Given the description of an element on the screen output the (x, y) to click on. 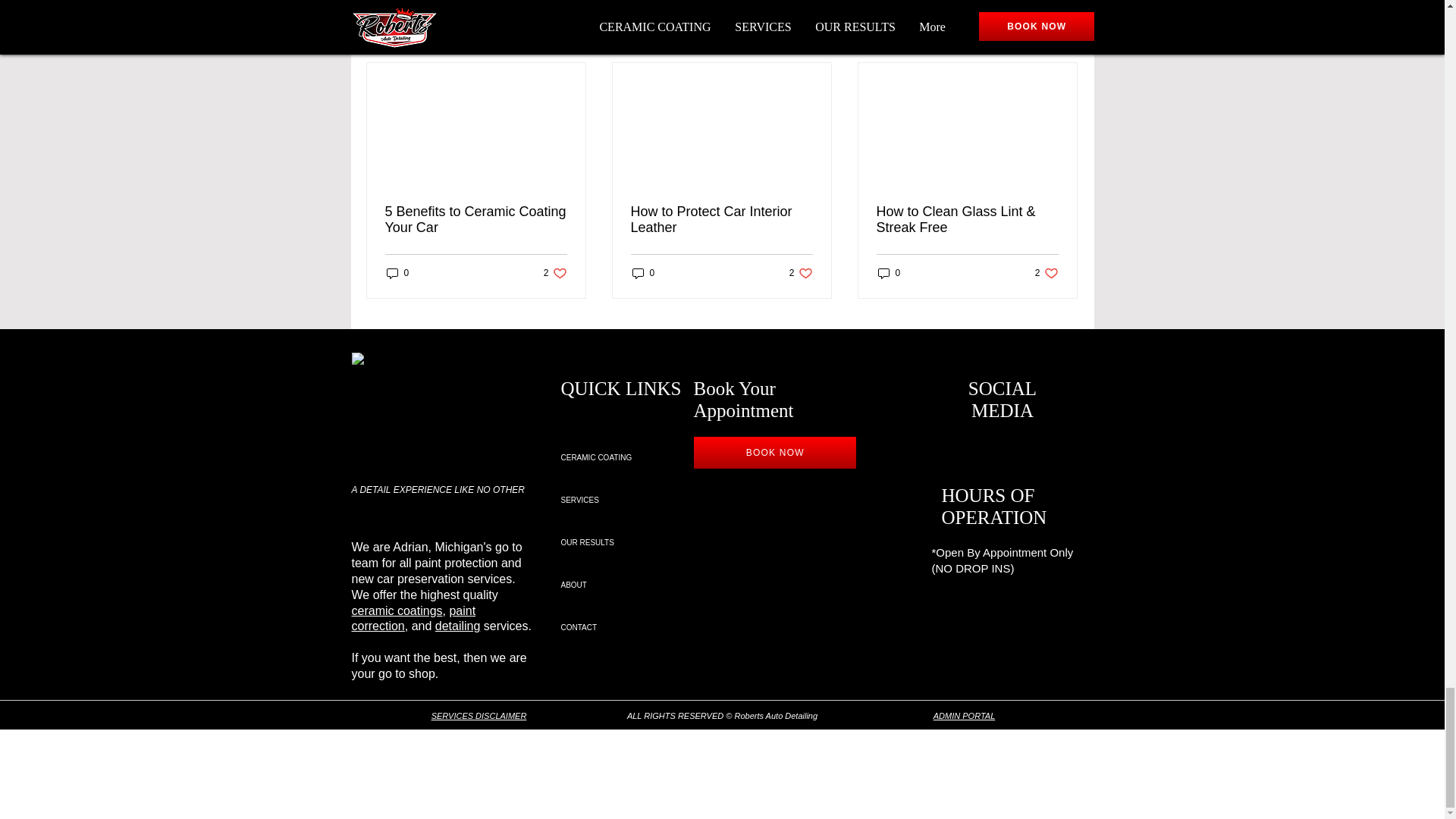
See All (555, 273)
0 (1061, 35)
5 Benefits to Ceramic Coating Your Car (397, 273)
